Given the description of an element on the screen output the (x, y) to click on. 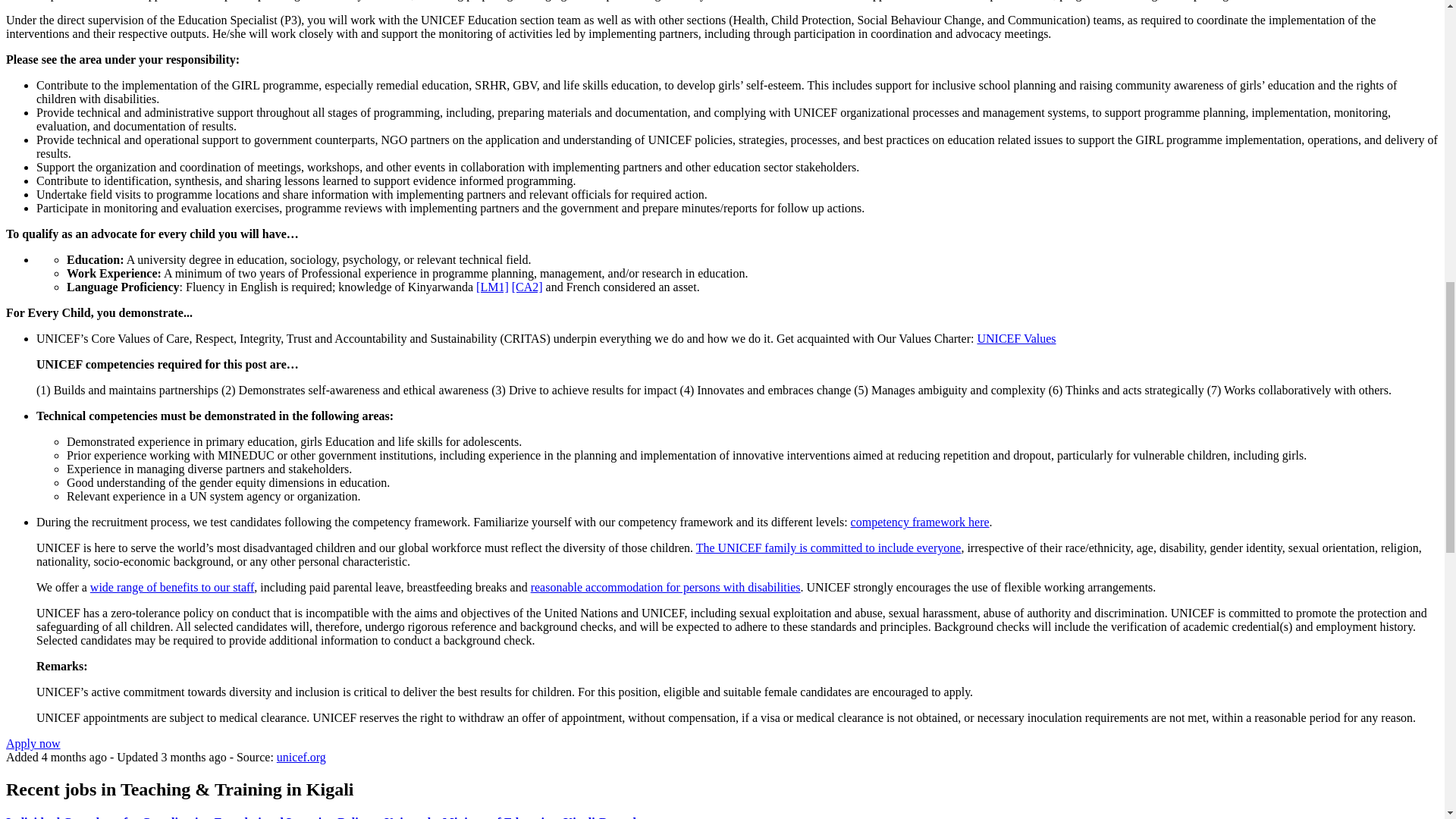
Apply now (33, 743)
; knowledge of Kinyarwanda (403, 286)
reasonable accommodation for persons with disabilities (665, 586)
UNICEF Values (1015, 338)
unicef.org (301, 757)
competency framework here (920, 521)
The UNICEF family is committed to include everyone (827, 547)
wide range of benefits to our staff (172, 586)
